Given the description of an element on the screen output the (x, y) to click on. 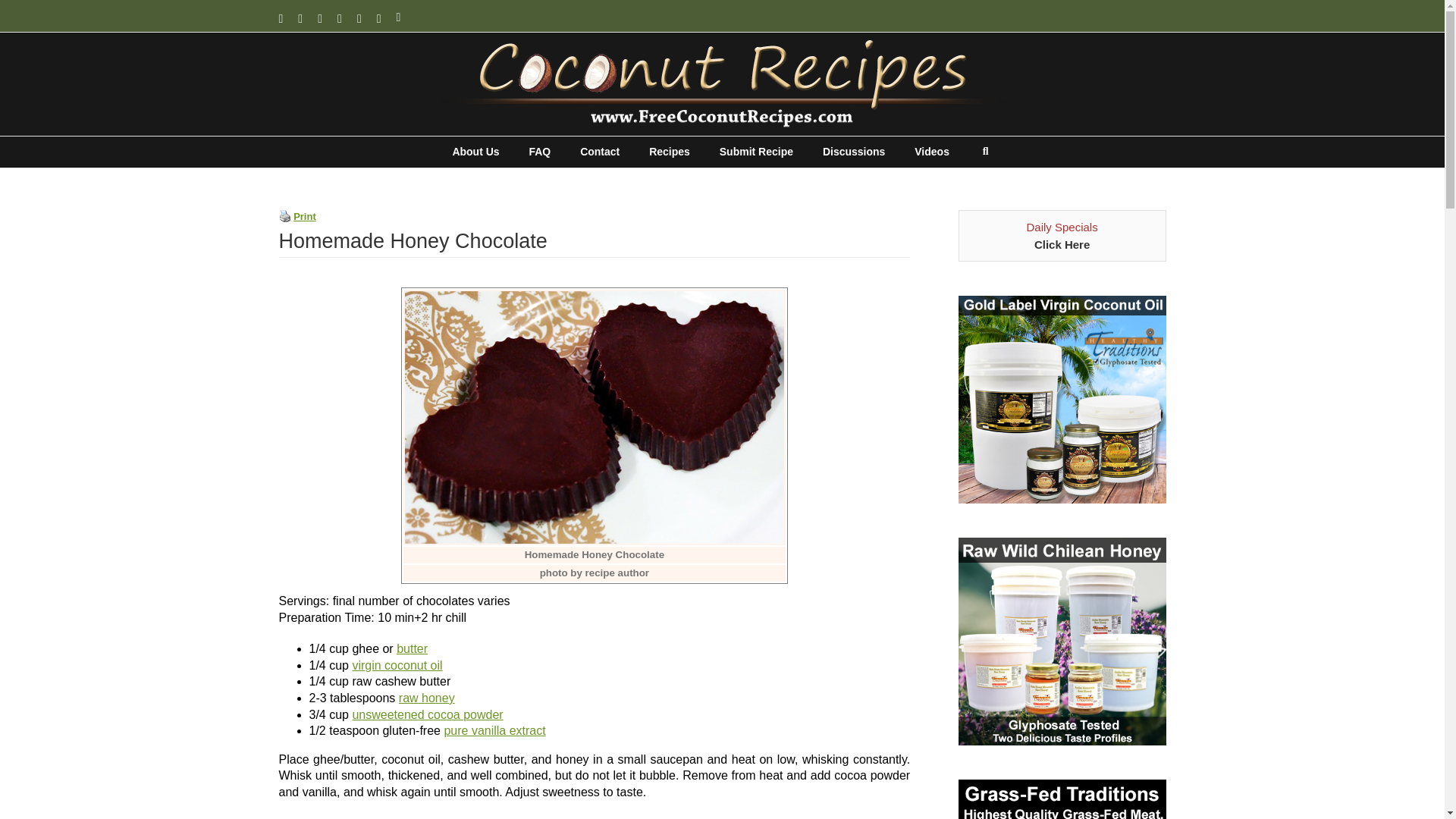
Print (285, 215)
Discussions (853, 151)
Print (285, 215)
Videos (931, 151)
Print (304, 215)
Recipes (669, 151)
About Us (475, 151)
Submit Recipe (756, 151)
Contact (599, 151)
